Given the description of an element on the screen output the (x, y) to click on. 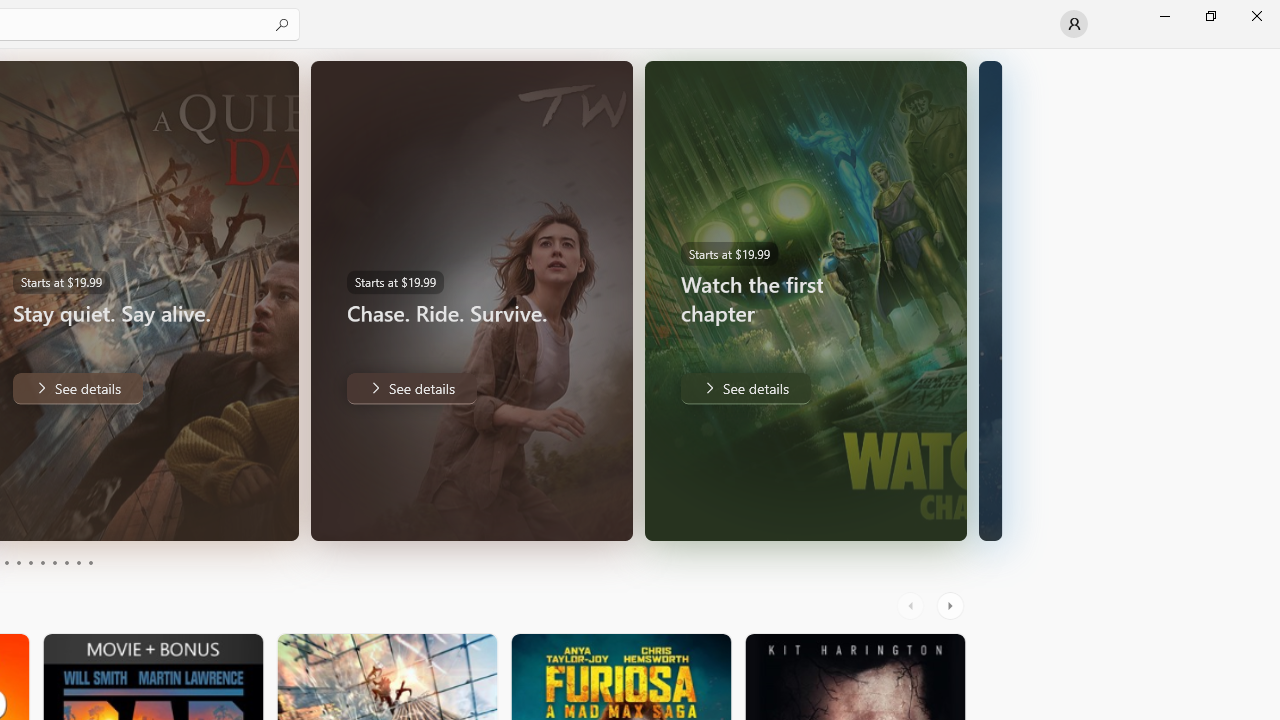
Page 3 (5, 562)
AutomationID: LeftScrollButton (913, 606)
Page 8 (65, 562)
Page 7 (54, 562)
AutomationID: Image (993, 300)
Page 6 (41, 562)
AutomationID: RightScrollButton (952, 606)
Page 10 (90, 562)
Page 9 (77, 562)
